Given the description of an element on the screen output the (x, y) to click on. 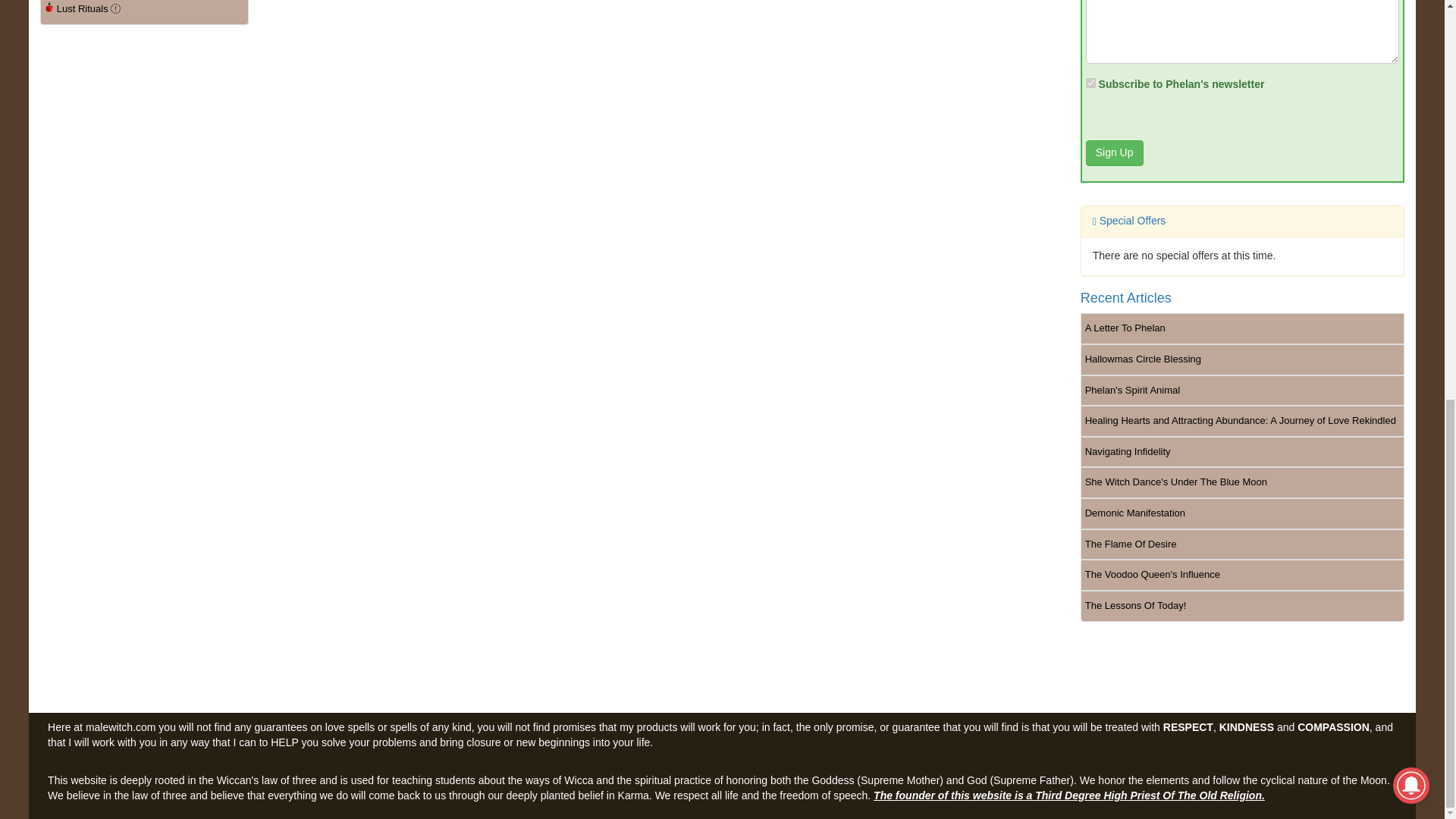
Lust Rituals (144, 12)
1 (1091, 82)
